Given the description of an element on the screen output the (x, y) to click on. 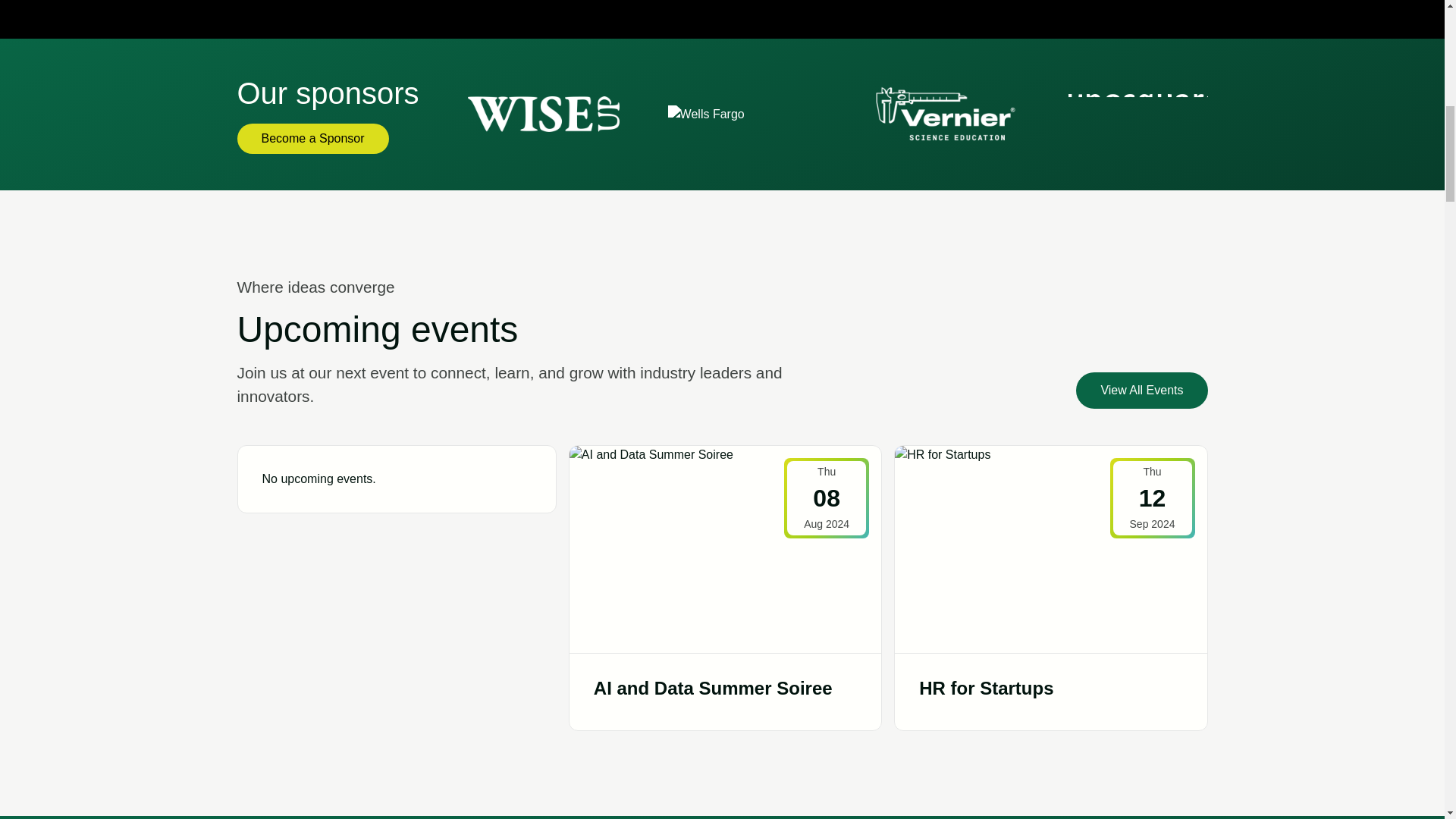
Wise Up (543, 113)
Unosquare (1144, 114)
Vernier Science Education (943, 114)
Wells Fargo (706, 113)
